Given the description of an element on the screen output the (x, y) to click on. 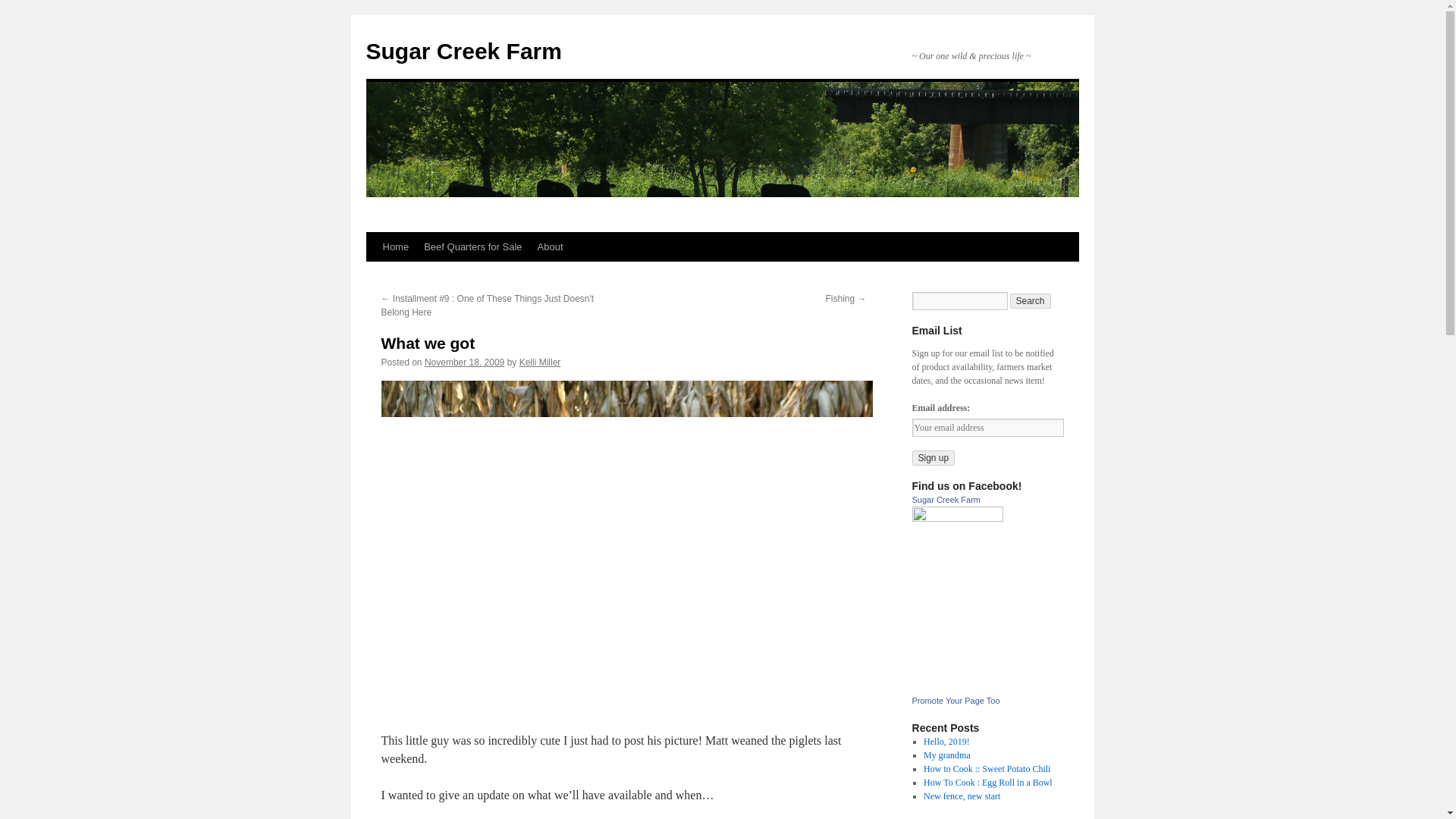
How to Cook :: Sweet Potato Chili (986, 768)
About (549, 246)
Sugar Creek Farm (957, 518)
November 18, 2009 (464, 362)
Beef Quarters for Sale (472, 246)
New fence, new start (961, 796)
Home (395, 246)
Search (1030, 300)
Search (1030, 300)
Hello, 2019! (946, 741)
